Given the description of an element on the screen output the (x, y) to click on. 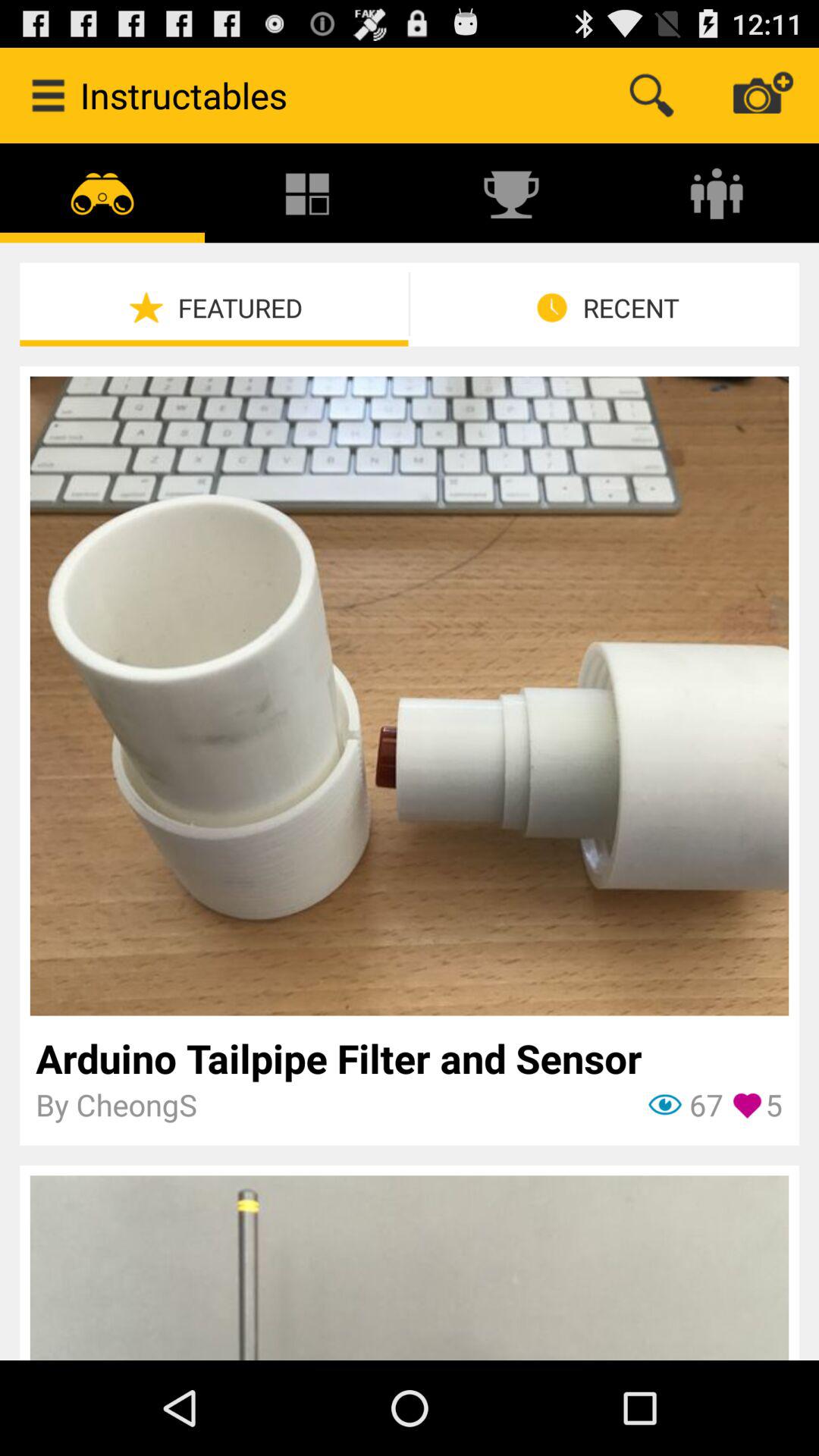
turn on arduino tailpipe filter icon (408, 1057)
